Given the description of an element on the screen output the (x, y) to click on. 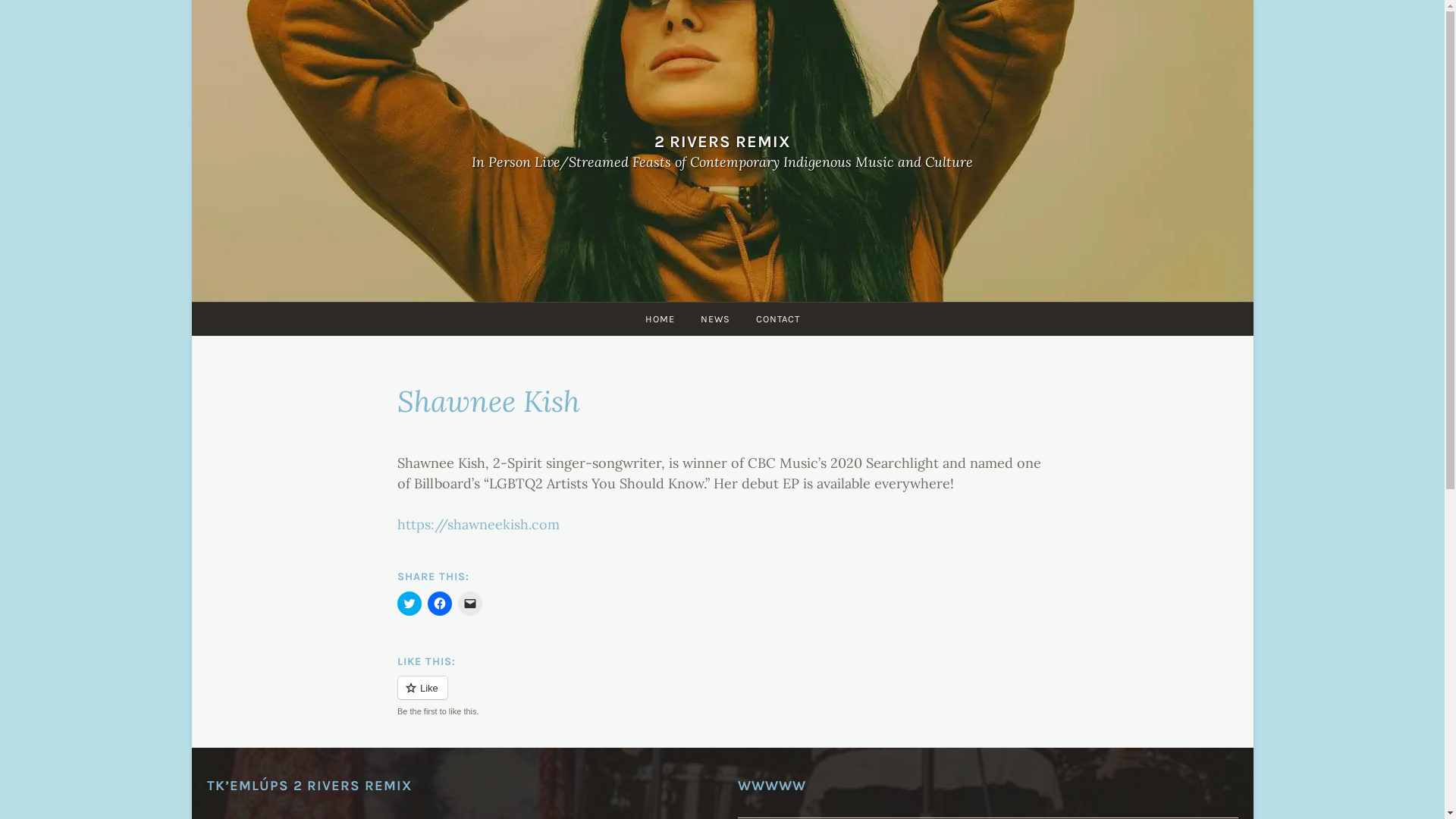
HOME Element type: text (659, 318)
Click to share on Twitter (Opens in new window) Element type: text (409, 603)
CONTACT Element type: text (777, 318)
Click to email a link to a friend (Opens in new window) Element type: text (470, 603)
Like or Reblog Element type: hover (722, 696)
NEWS Element type: text (714, 318)
2 RIVERS REMIX Element type: text (721, 140)
https://shawneekish.com Element type: text (478, 524)
Click to share on Facebook (Opens in new window) Element type: text (439, 603)
